Given the description of an element on the screen output the (x, y) to click on. 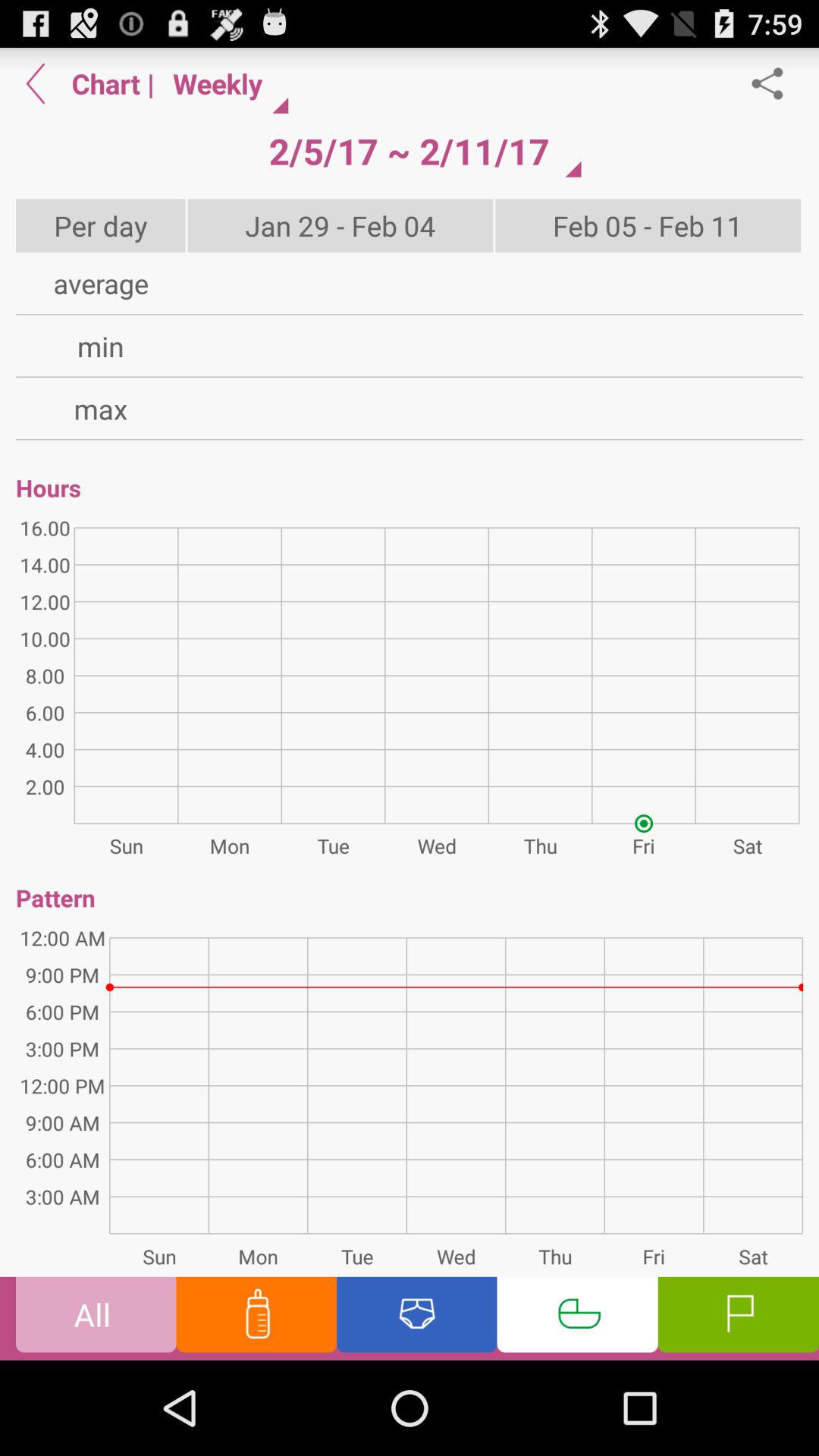
select item above 2 5 17 item (224, 83)
